Given the description of an element on the screen output the (x, y) to click on. 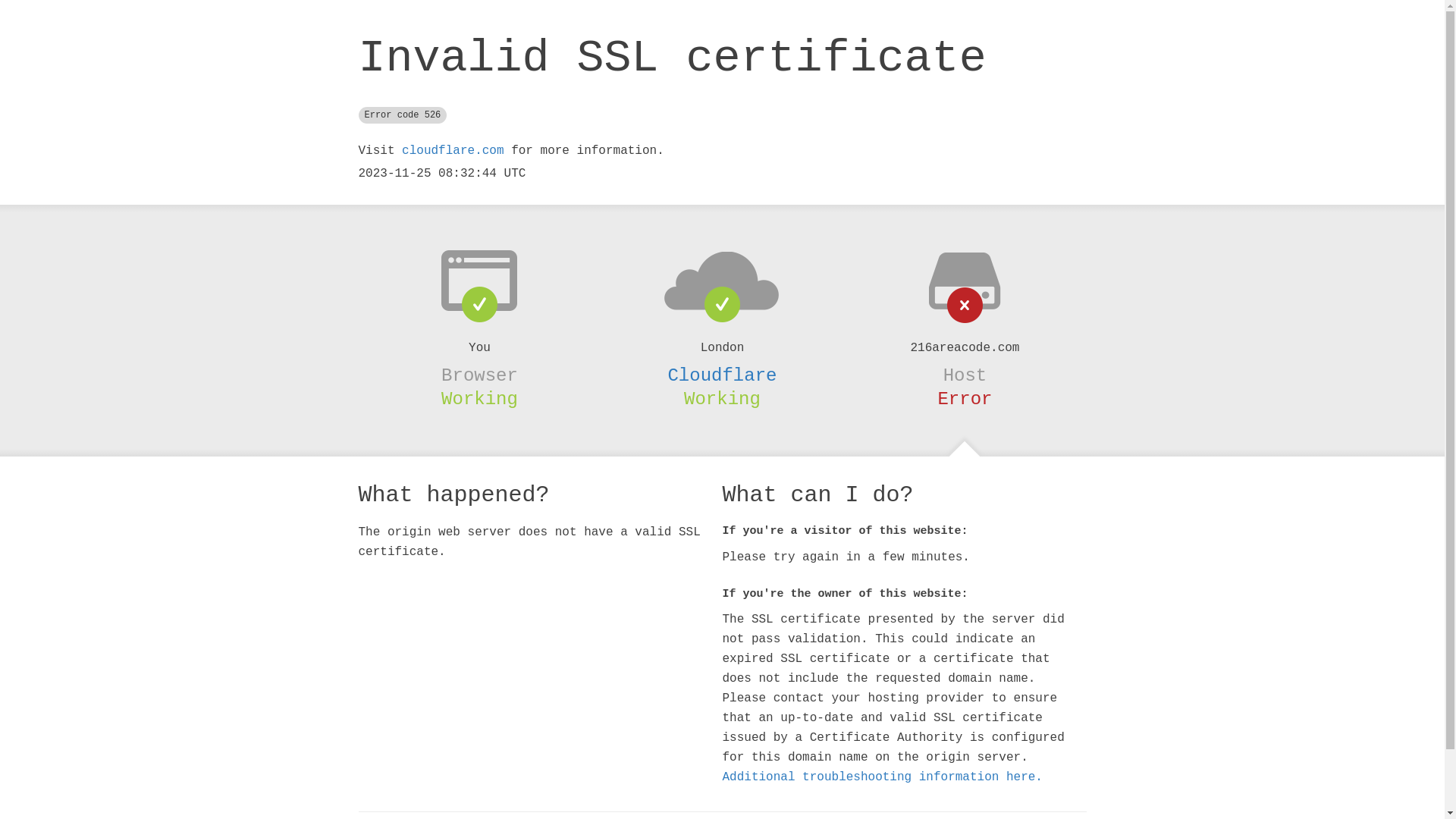
Additional troubleshooting information here. Element type: text (881, 777)
Cloudflare Element type: text (721, 375)
cloudflare.com Element type: text (452, 150)
